Given the description of an element on the screen output the (x, y) to click on. 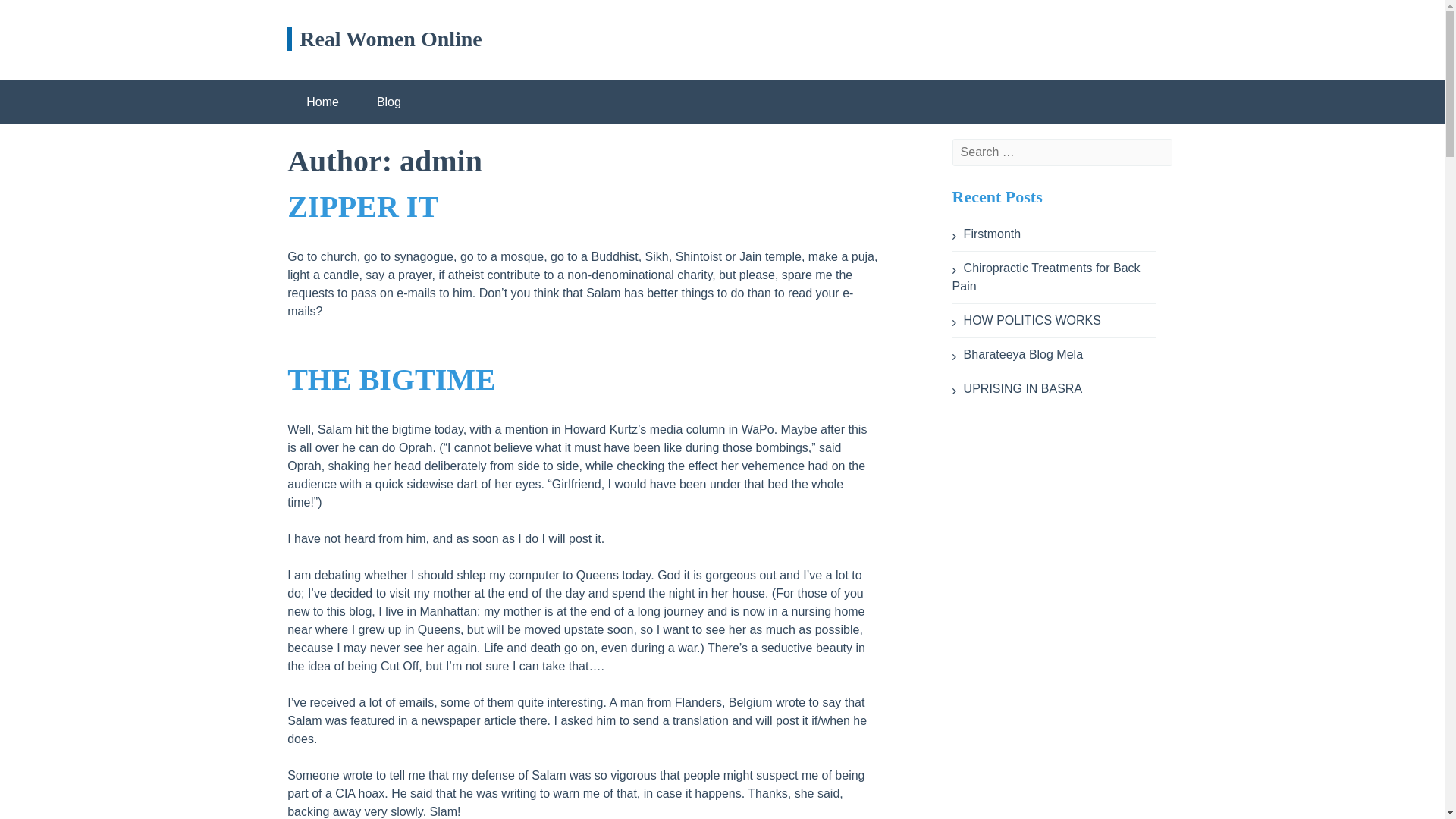
THE BIGTIME (391, 379)
Home (322, 101)
Real Women Online (383, 38)
Blog (389, 101)
ZIPPER IT (362, 206)
